Given the description of an element on the screen output the (x, y) to click on. 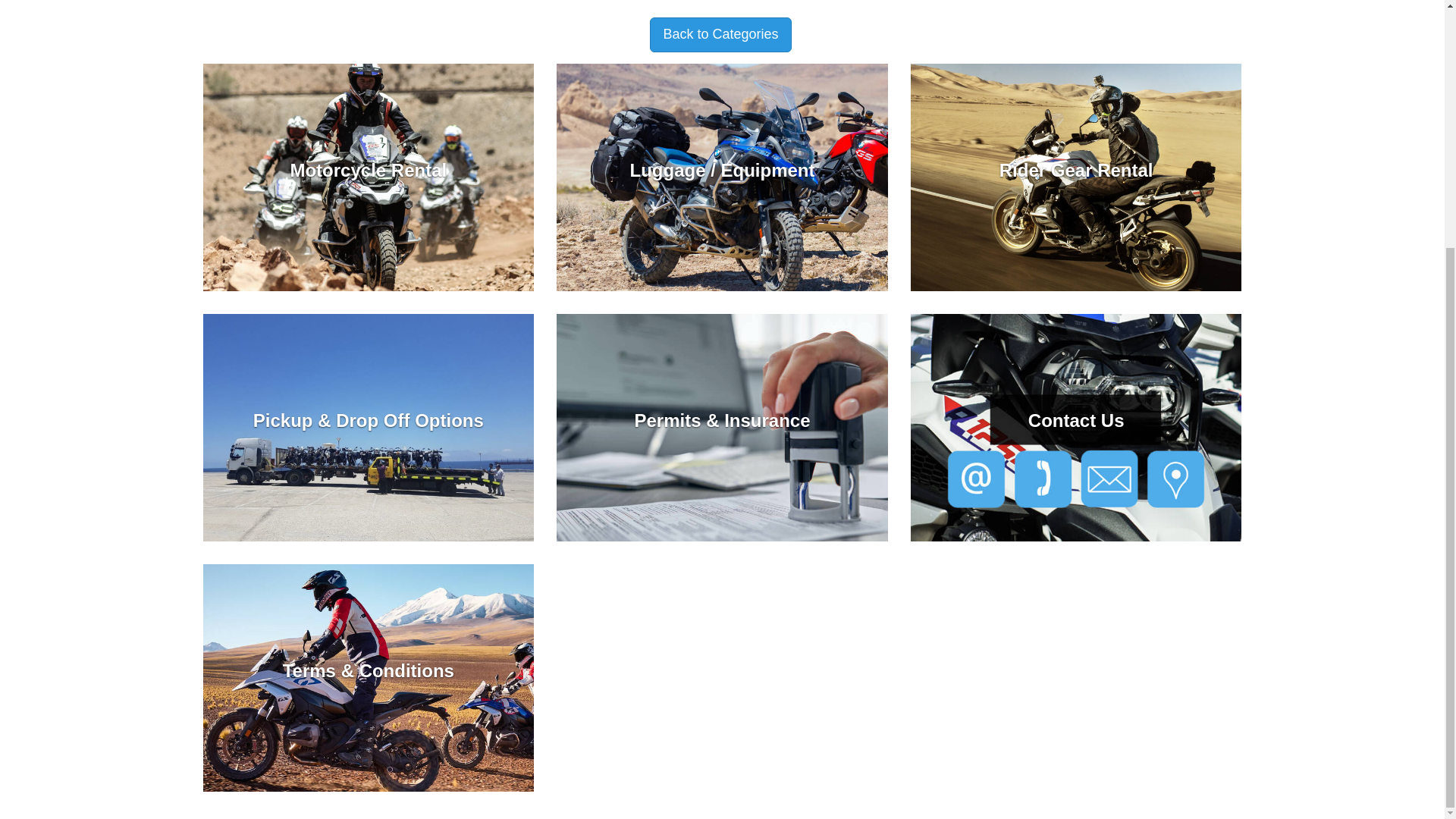
Back to Categories (719, 34)
